Given the description of an element on the screen output the (x, y) to click on. 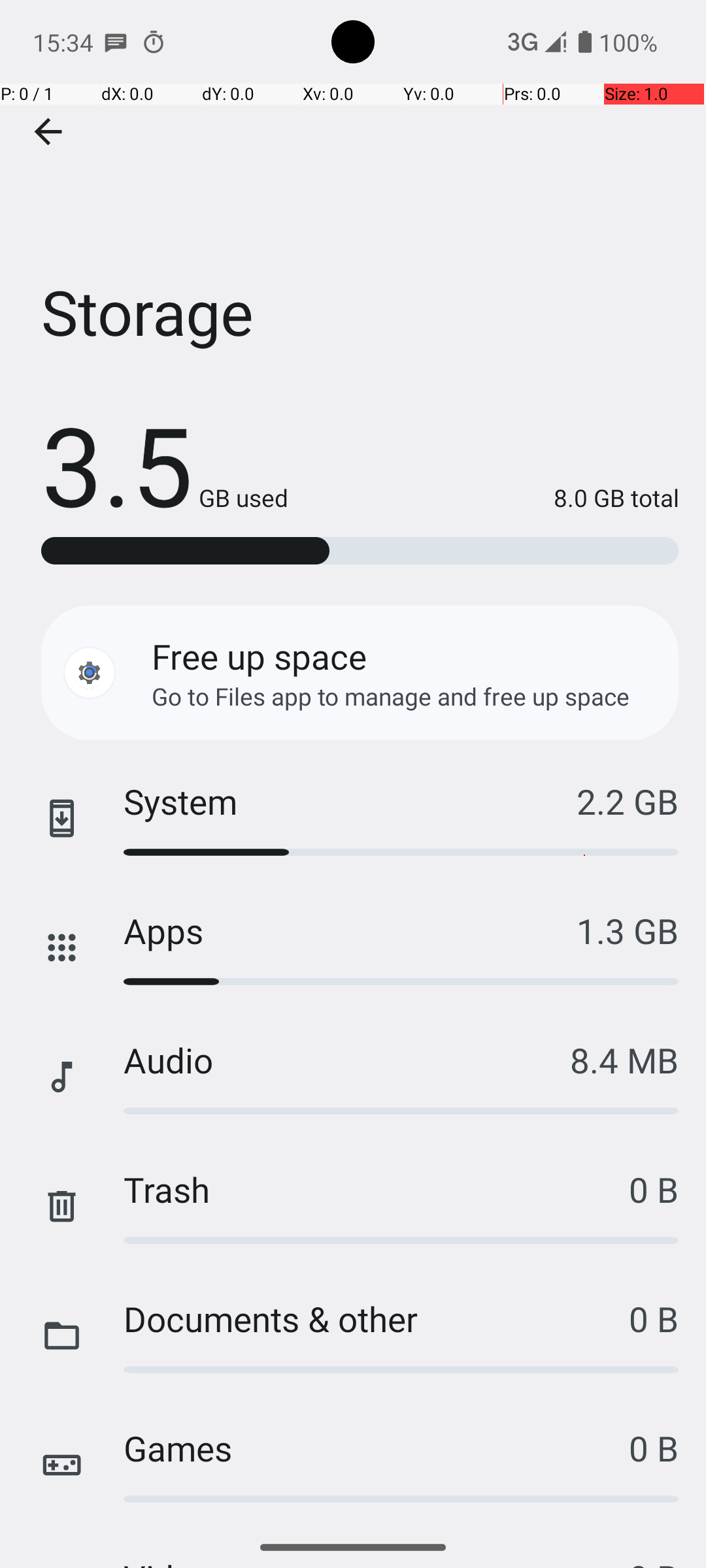
3.5 GB used Element type: android.widget.TextView (164, 463)
8.0 GB total Element type: android.widget.TextView (483, 497)
Free up space Element type: android.widget.TextView (258, 656)
Go to Files app to manage and free up space Element type: android.widget.TextView (390, 695)
2.2 GB Element type: android.widget.TextView (627, 801)
1.3 GB Element type: android.widget.TextView (627, 930)
8.4 MB Element type: android.widget.TextView (624, 1059)
Trash Element type: android.widget.TextView (375, 1189)
0 B Element type: android.widget.TextView (653, 1189)
Documents & other Element type: android.widget.TextView (375, 1318)
Games Element type: android.widget.TextView (375, 1447)
